Given the description of an element on the screen output the (x, y) to click on. 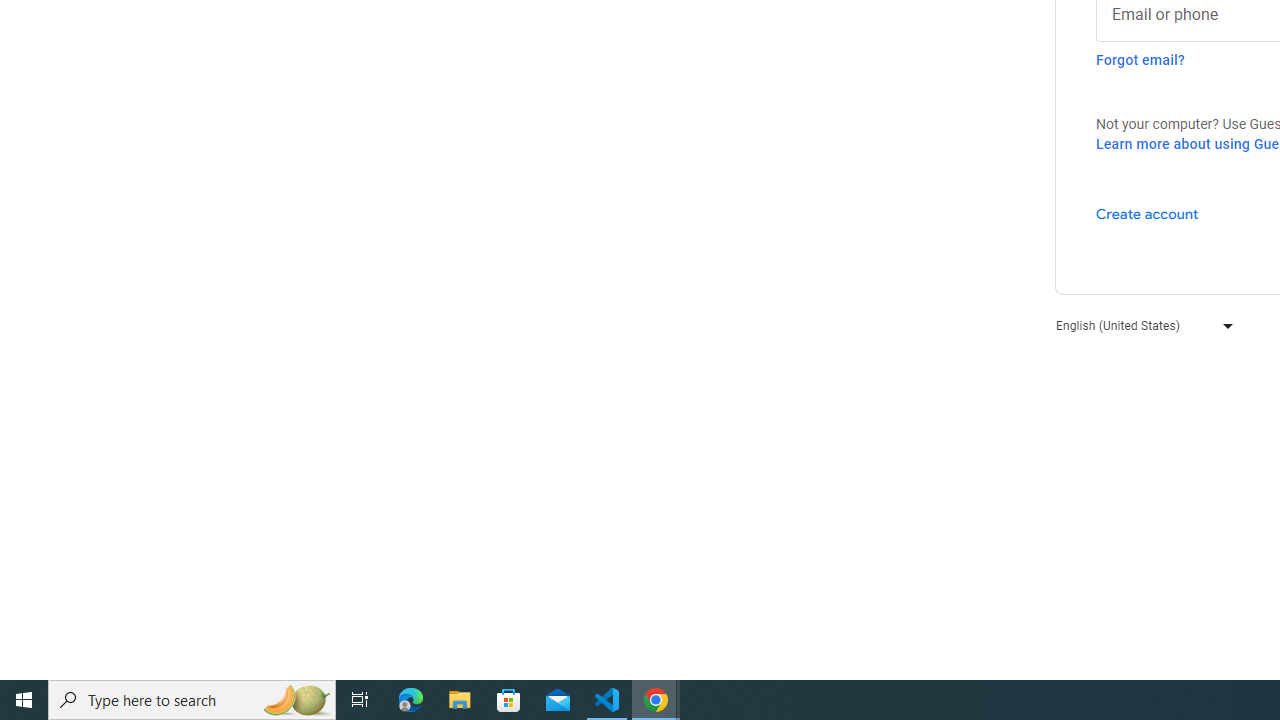
Create account (1146, 213)
English (United States) (1139, 324)
Forgot email? (1140, 59)
